Given the description of an element on the screen output the (x, y) to click on. 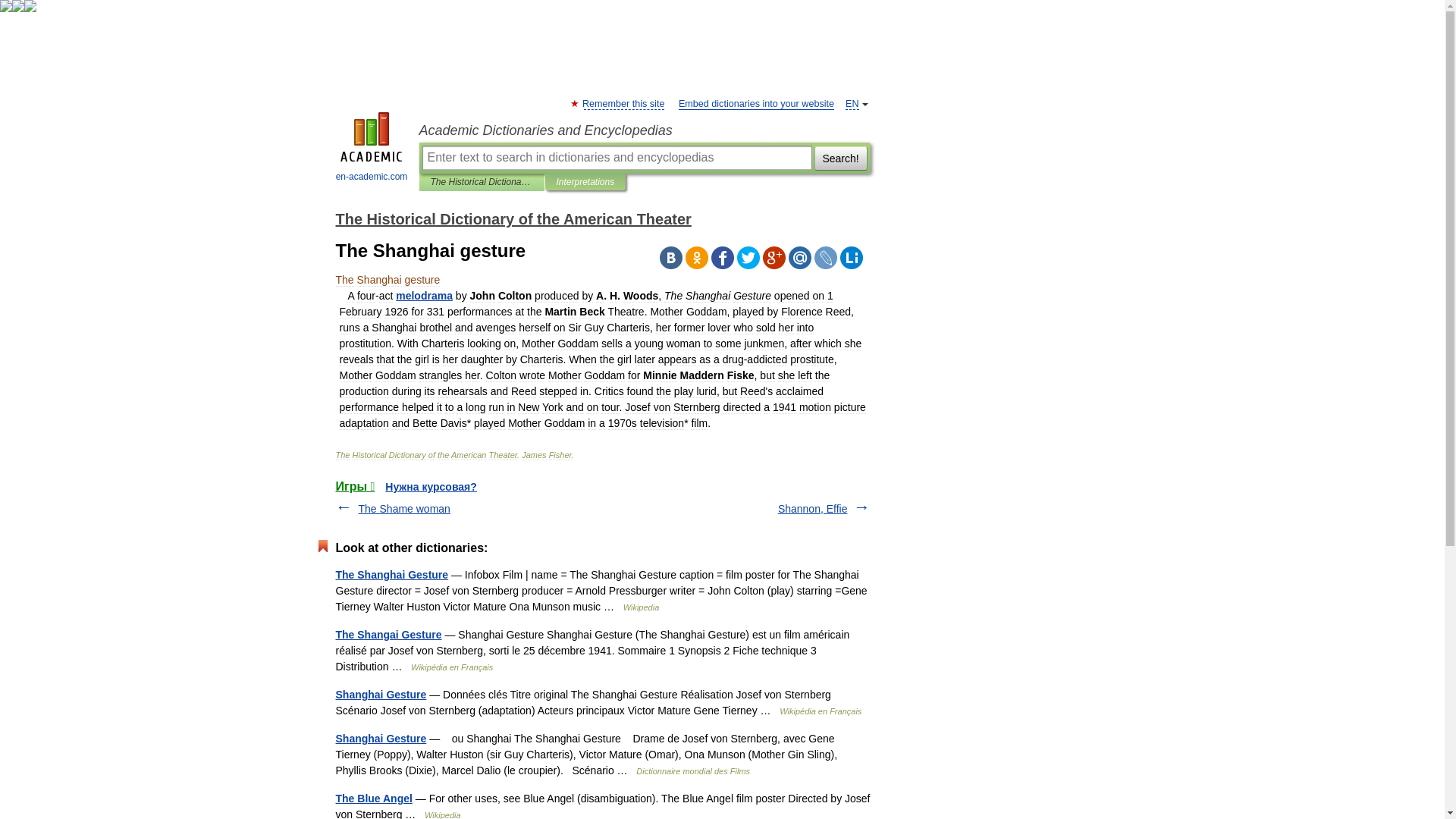
Shannon, Effie (812, 508)
Shanghai Gesture (380, 694)
The Shame woman (403, 508)
en-academic.com (371, 148)
Embed dictionaries into your website (756, 103)
The Shanghai Gesture (391, 574)
The Shangai Gesture (387, 634)
Search! (840, 157)
Remember this site (623, 103)
The Blue Angel (373, 798)
